Given the description of an element on the screen output the (x, y) to click on. 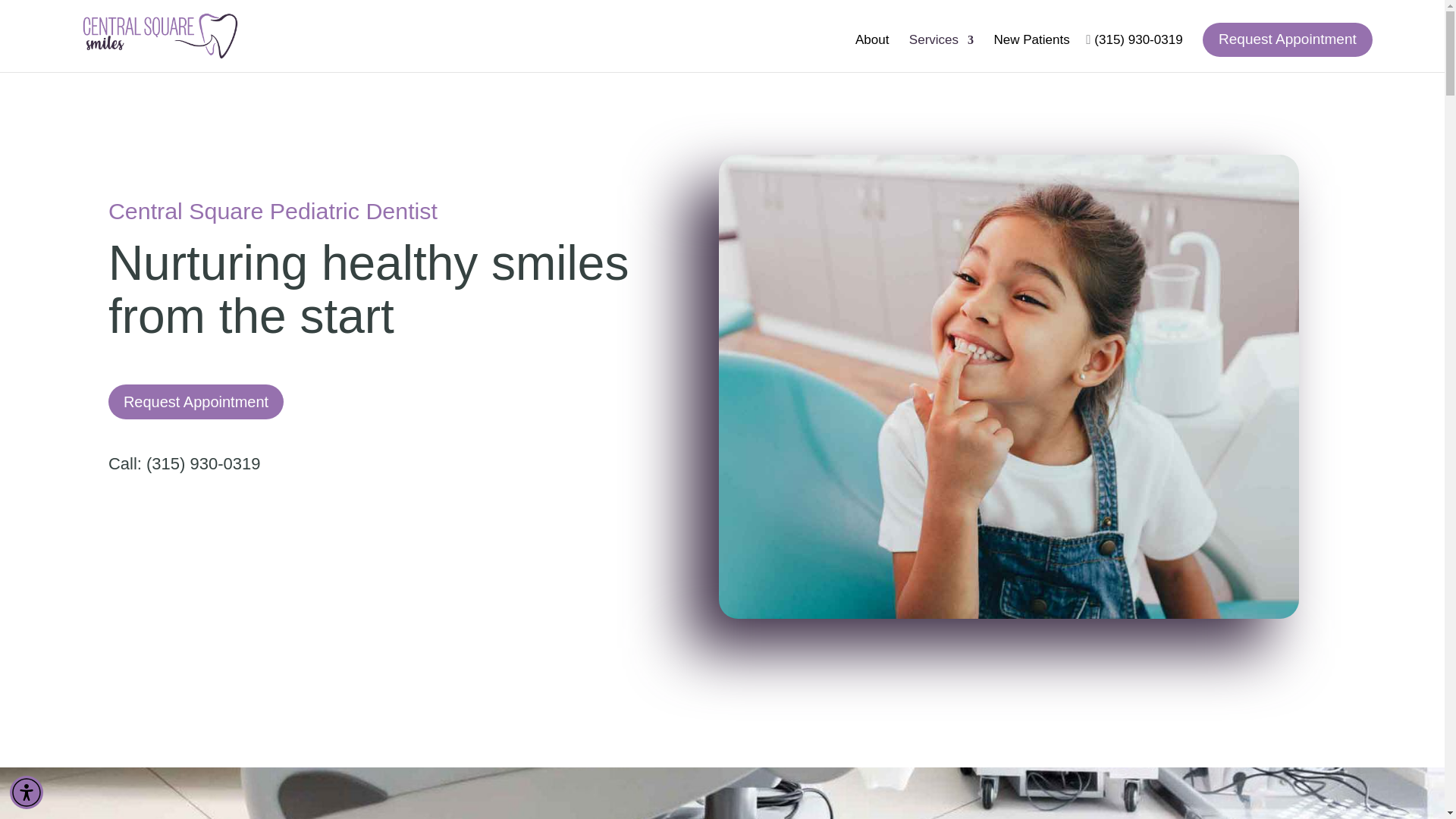
Request Appointment (195, 401)
New Patients (1030, 51)
Services (941, 51)
Request Appointment (1287, 39)
About (872, 51)
Accessibility Menu (26, 792)
